Given the description of an element on the screen output the (x, y) to click on. 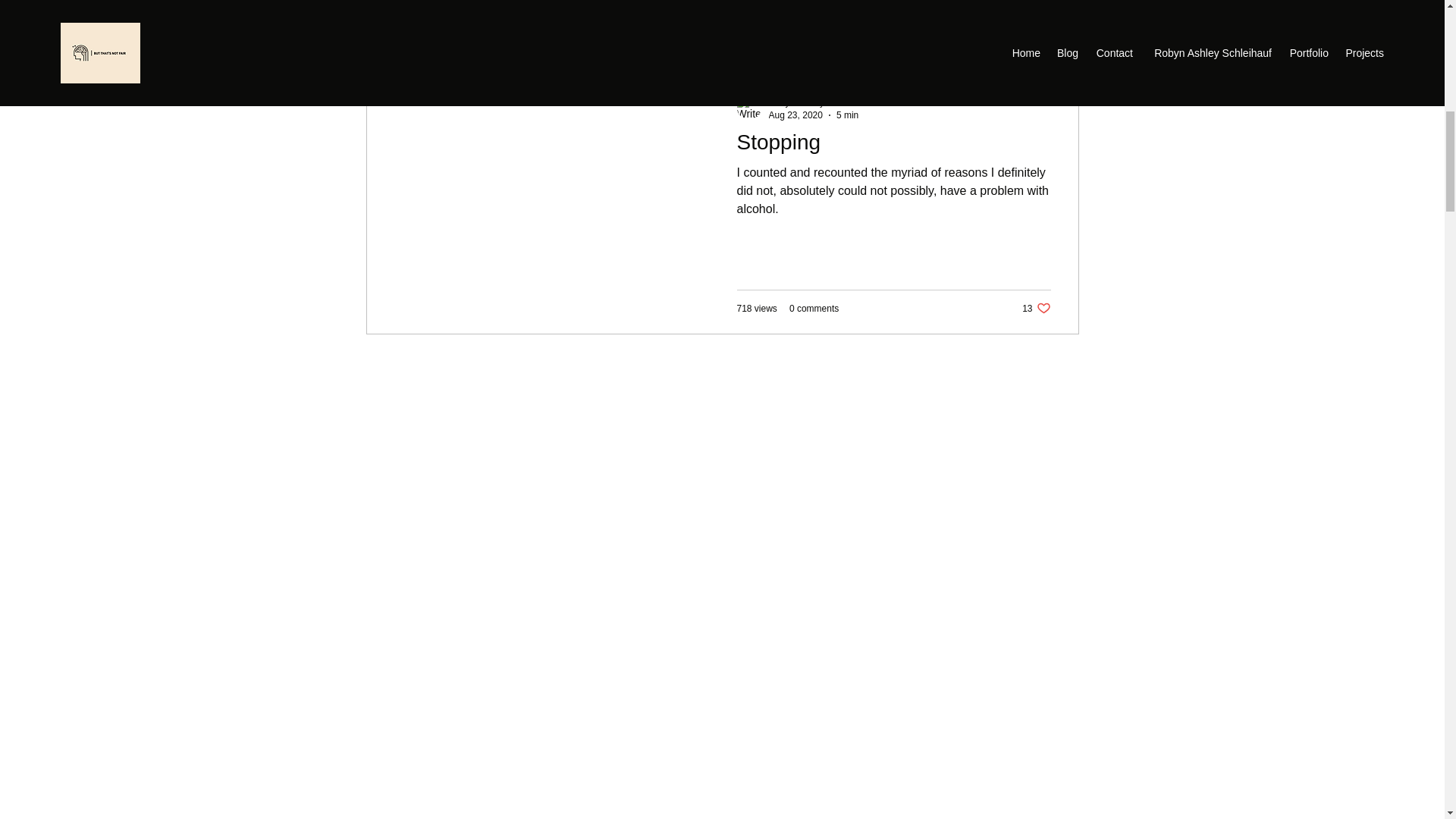
Post (378, 30)
Recovery Sessions (1035, 308)
5 min (606, 30)
Aug 23, 2020 (847, 113)
Stopping (795, 113)
Robyn Ashley Schleihauf (893, 146)
Personal Essays (818, 102)
0 comments (470, 30)
